Given the description of an element on the screen output the (x, y) to click on. 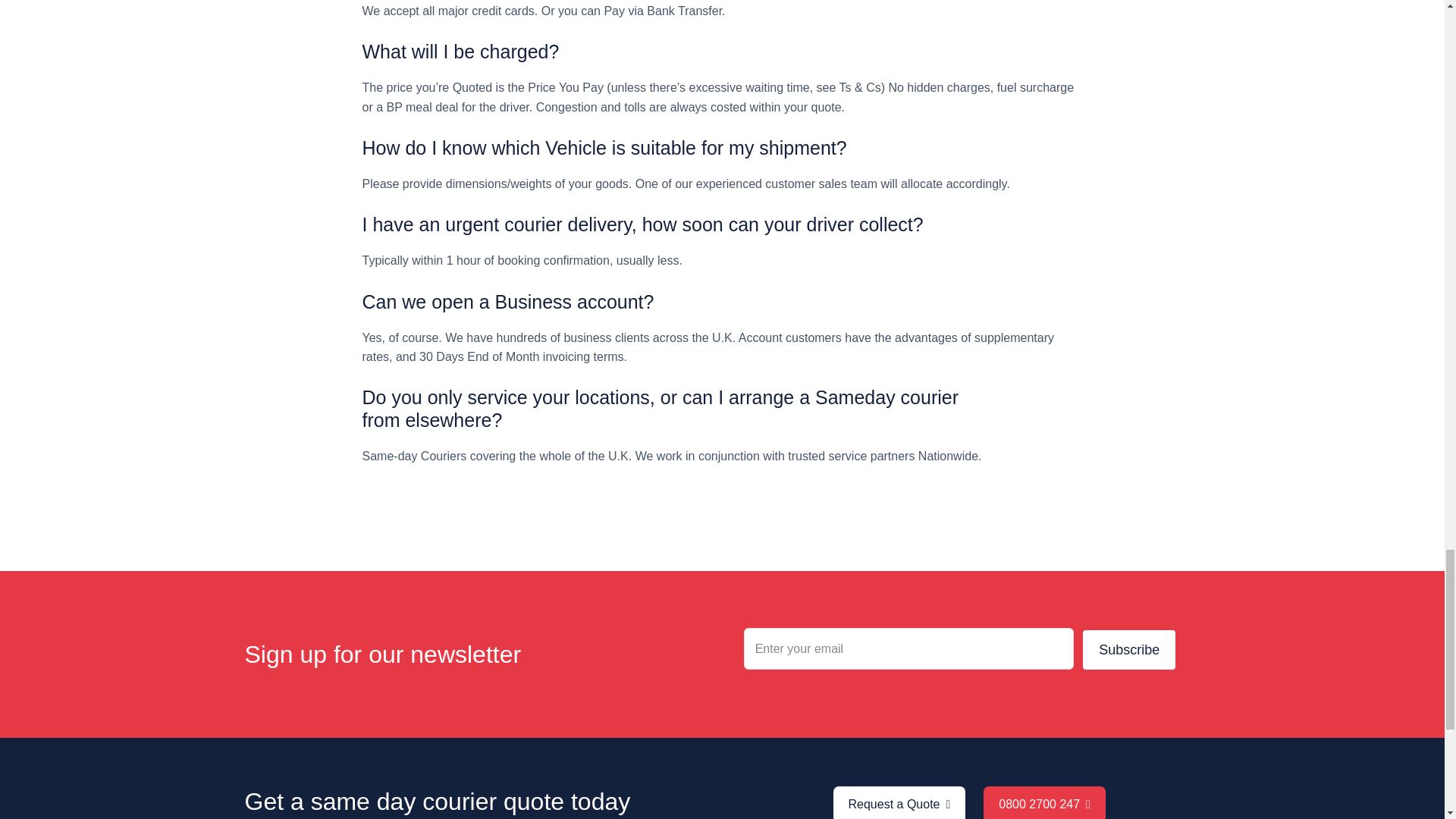
0800 2700 247 (1044, 802)
Subscribe (1128, 649)
Request a Quote (898, 802)
